Given the description of an element on the screen output the (x, y) to click on. 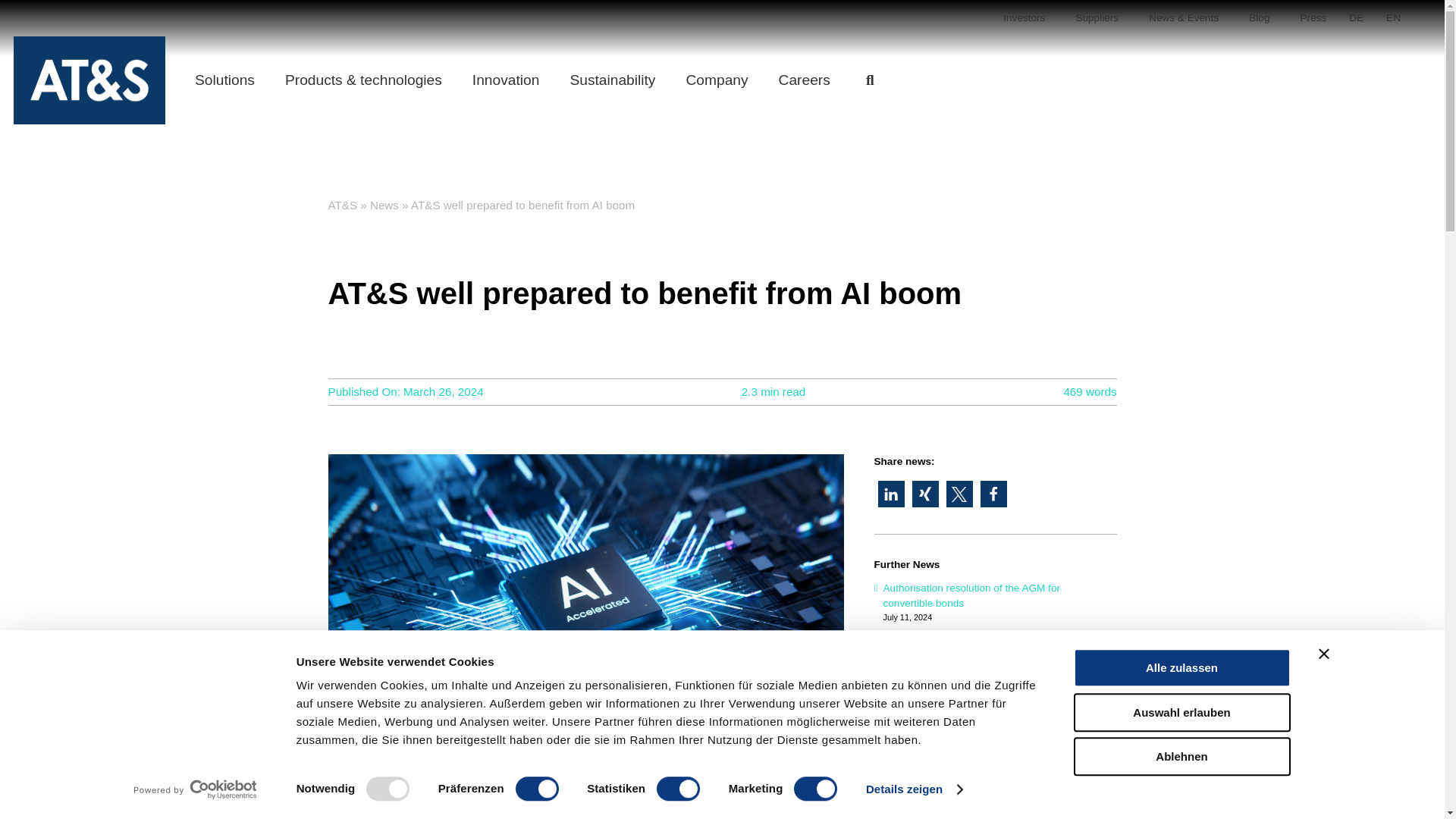
Details zeigen (914, 789)
